Given the description of an element on the screen output the (x, y) to click on. 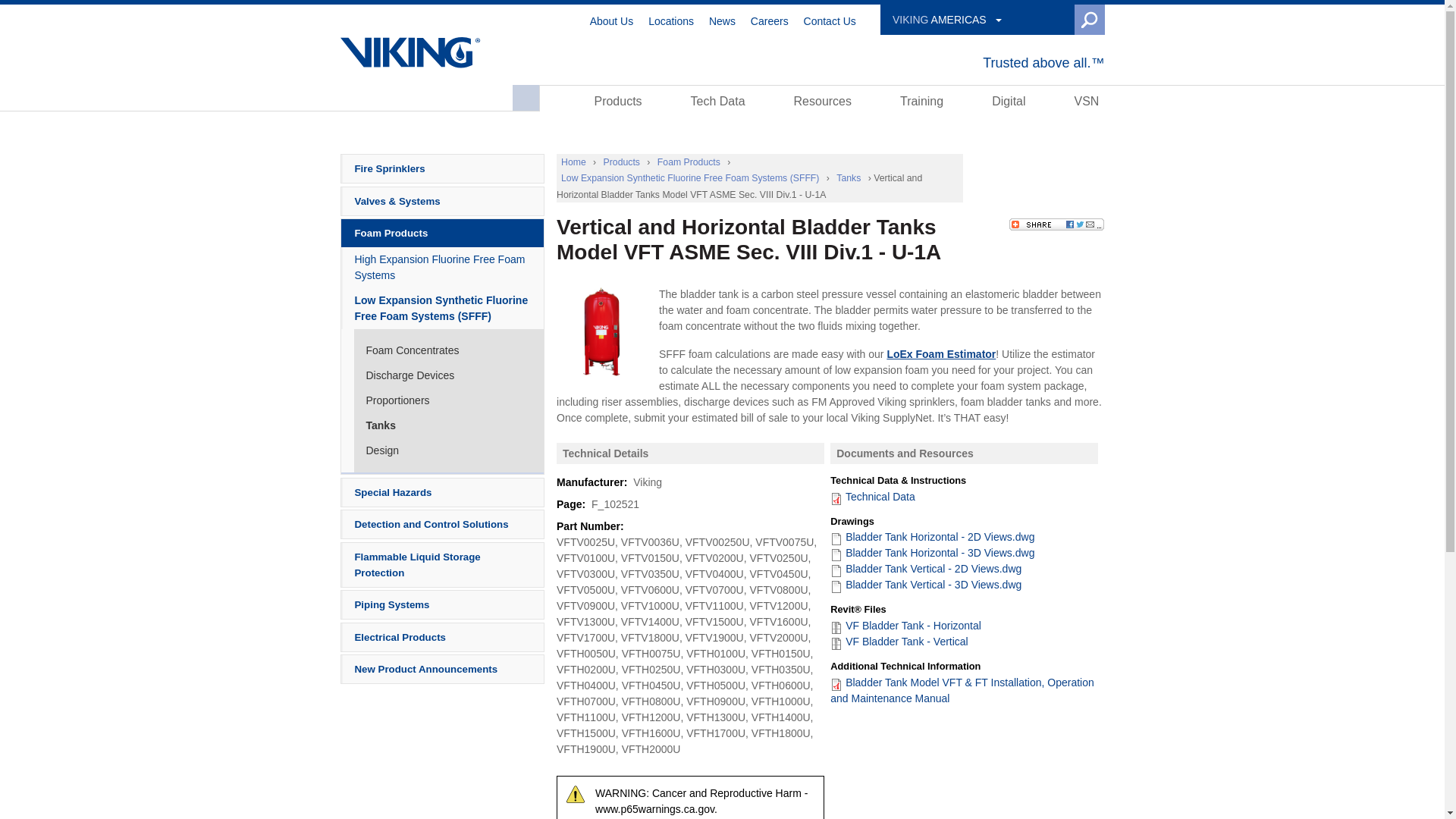
Resources (823, 99)
Locations (670, 20)
5.35 MB DWG (931, 552)
Products (618, 99)
4.97 MB DWG (925, 584)
1.54 MB DWG (931, 536)
1.34 MB DWG (925, 568)
Careers (770, 20)
News (722, 20)
636.94 KB ZIP (898, 641)
Search (1057, 19)
Home (409, 52)
About Us (611, 20)
Contact Us (829, 20)
Tech Data (718, 99)
